Given the description of an element on the screen output the (x, y) to click on. 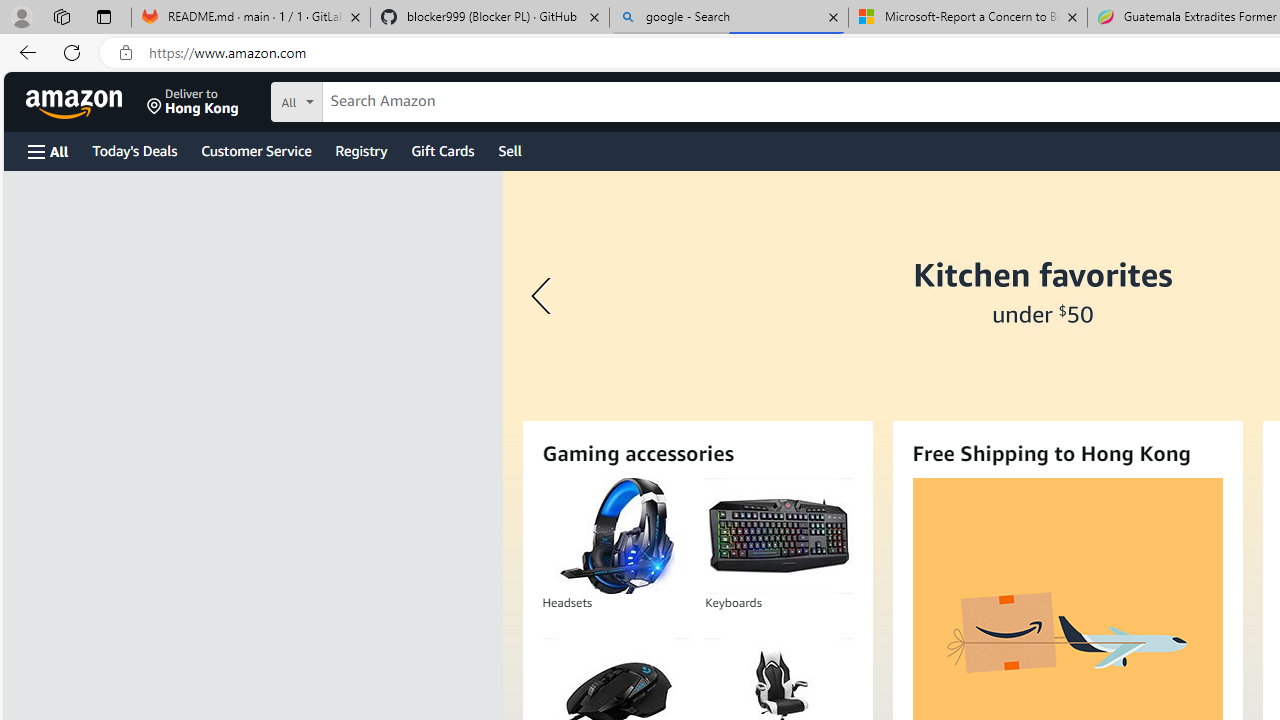
Keyboards (778, 536)
Gift Cards (442, 150)
Headsets (615, 536)
Refresh (72, 52)
Back (24, 52)
Open Menu (48, 151)
Headsets (616, 536)
Sell (509, 150)
Close tab (1072, 16)
Keyboards (778, 536)
Previous slide (544, 296)
Microsoft-Report a Concern to Bing (967, 17)
Amazon (76, 101)
Tab actions menu (104, 16)
